Given the description of an element on the screen output the (x, y) to click on. 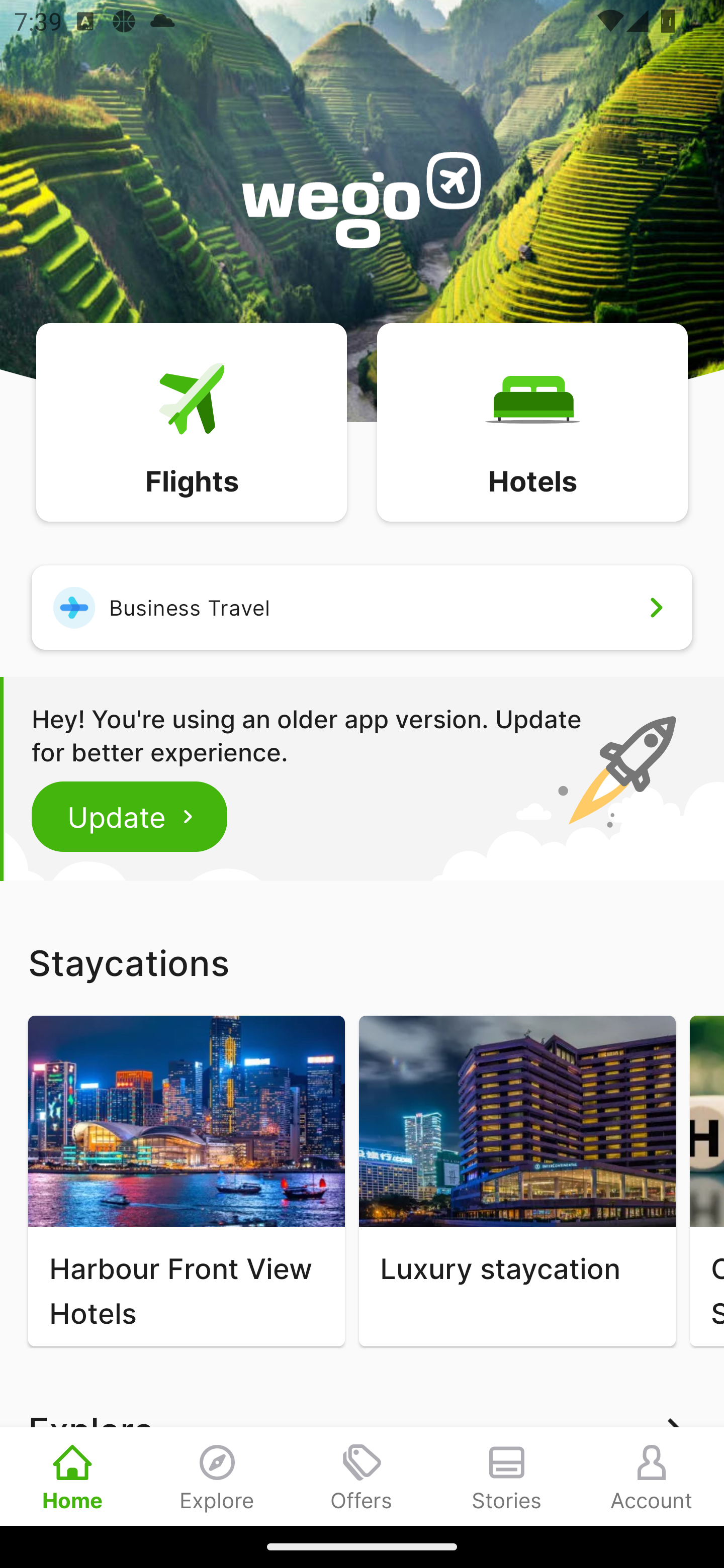
Flights (191, 420)
Hotels (532, 420)
Business Travel (361, 607)
Update (129, 815)
Staycations (362, 962)
Harbour Front View Hotels (186, 1181)
Luxury staycation (517, 1181)
Explore (216, 1475)
Offers (361, 1475)
Stories (506, 1475)
Account (651, 1475)
